Given the description of an element on the screen output the (x, y) to click on. 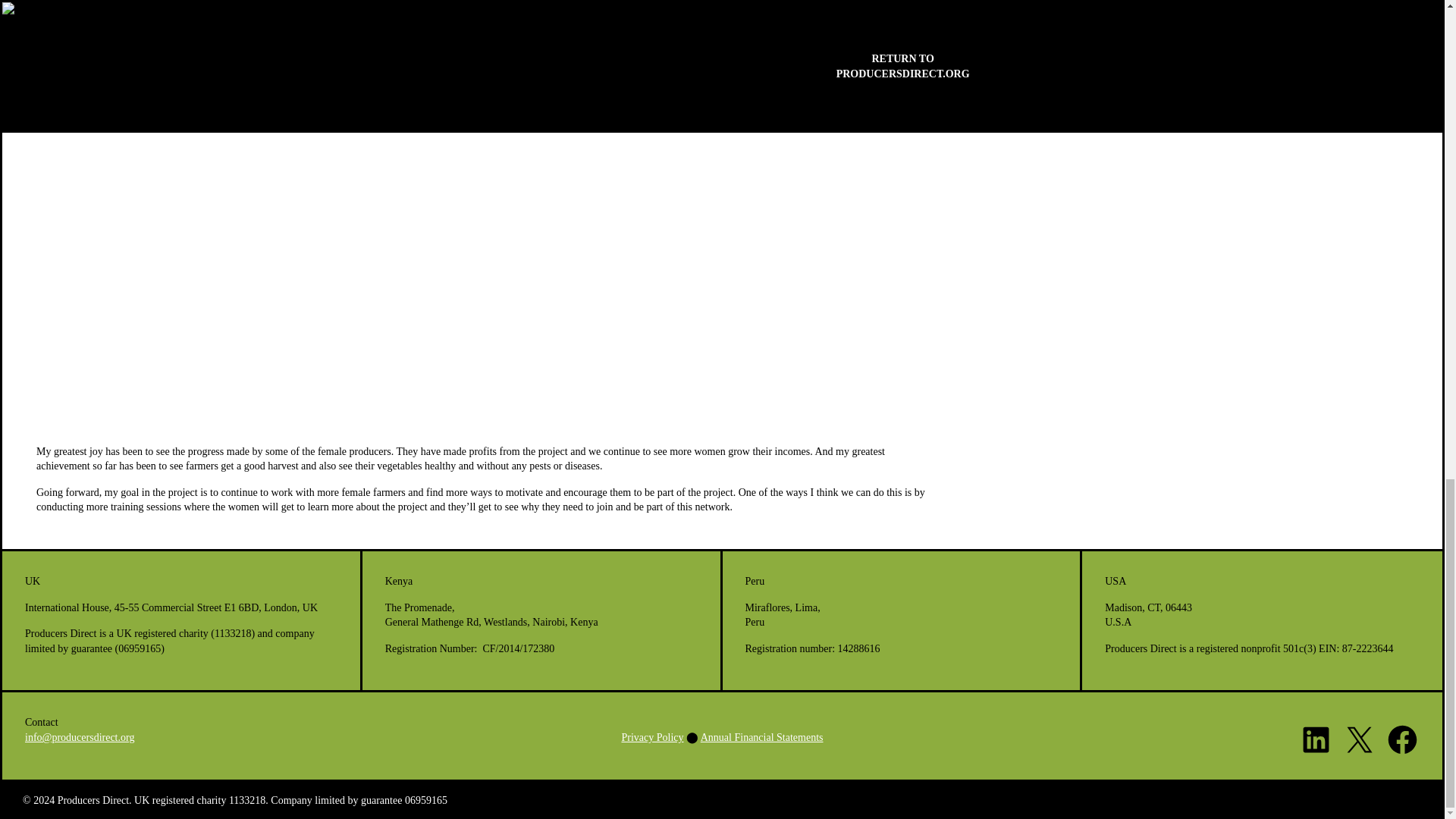
Annual Financial Statements (762, 737)
Privacy Policy (651, 737)
X (1358, 739)
LinkedIn (1315, 739)
Facebook (1402, 739)
Producers Direct (93, 799)
